Given the description of an element on the screen output the (x, y) to click on. 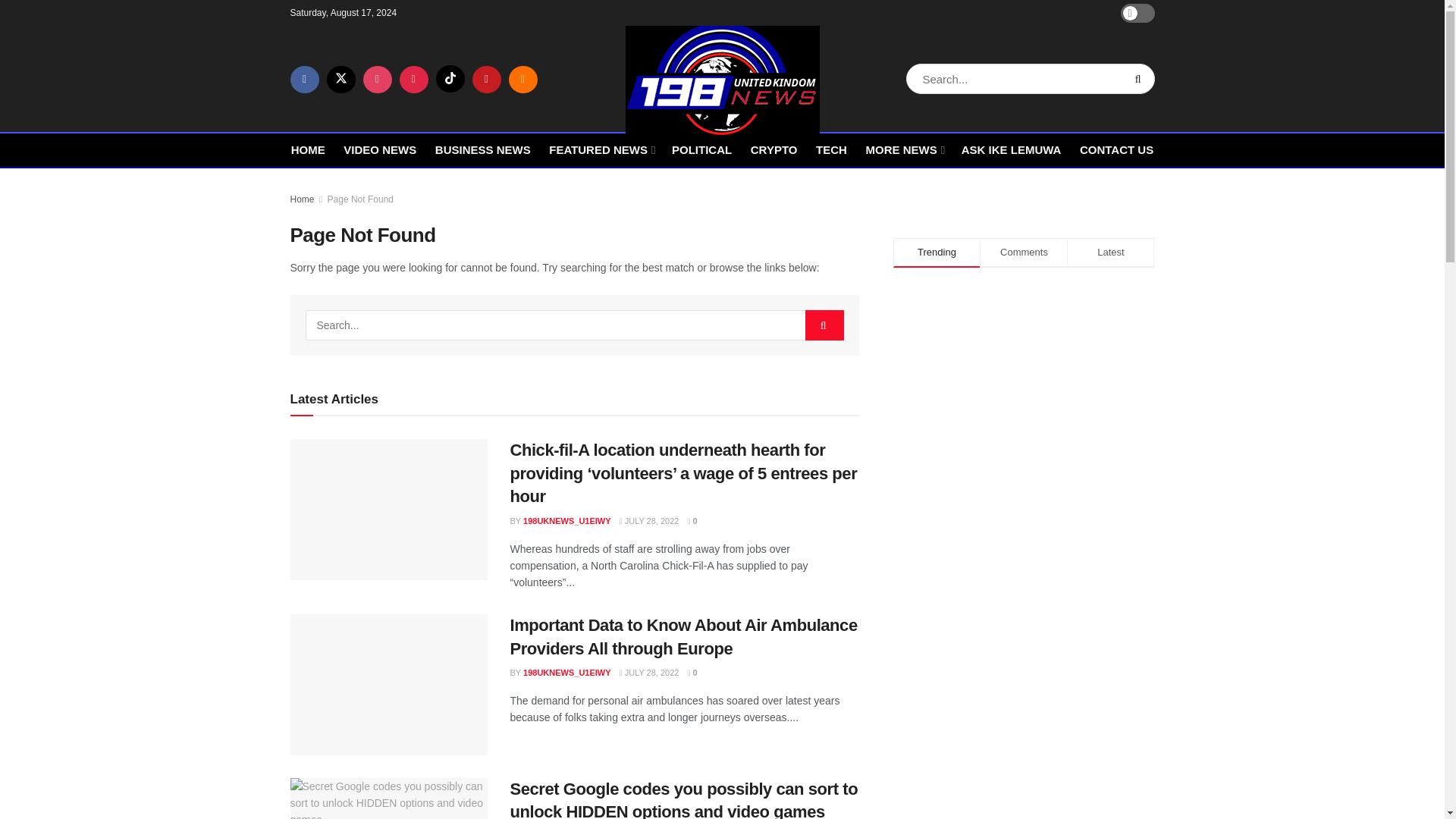
TECH (831, 149)
FEATURED NEWS (600, 149)
POLITICAL (701, 149)
CRYPTO (774, 149)
ASK IKE LEMUWA (1010, 149)
MORE NEWS (903, 149)
CONTACT US (1116, 149)
BUSINESS NEWS (483, 149)
HOME (307, 149)
